Given the description of an element on the screen output the (x, y) to click on. 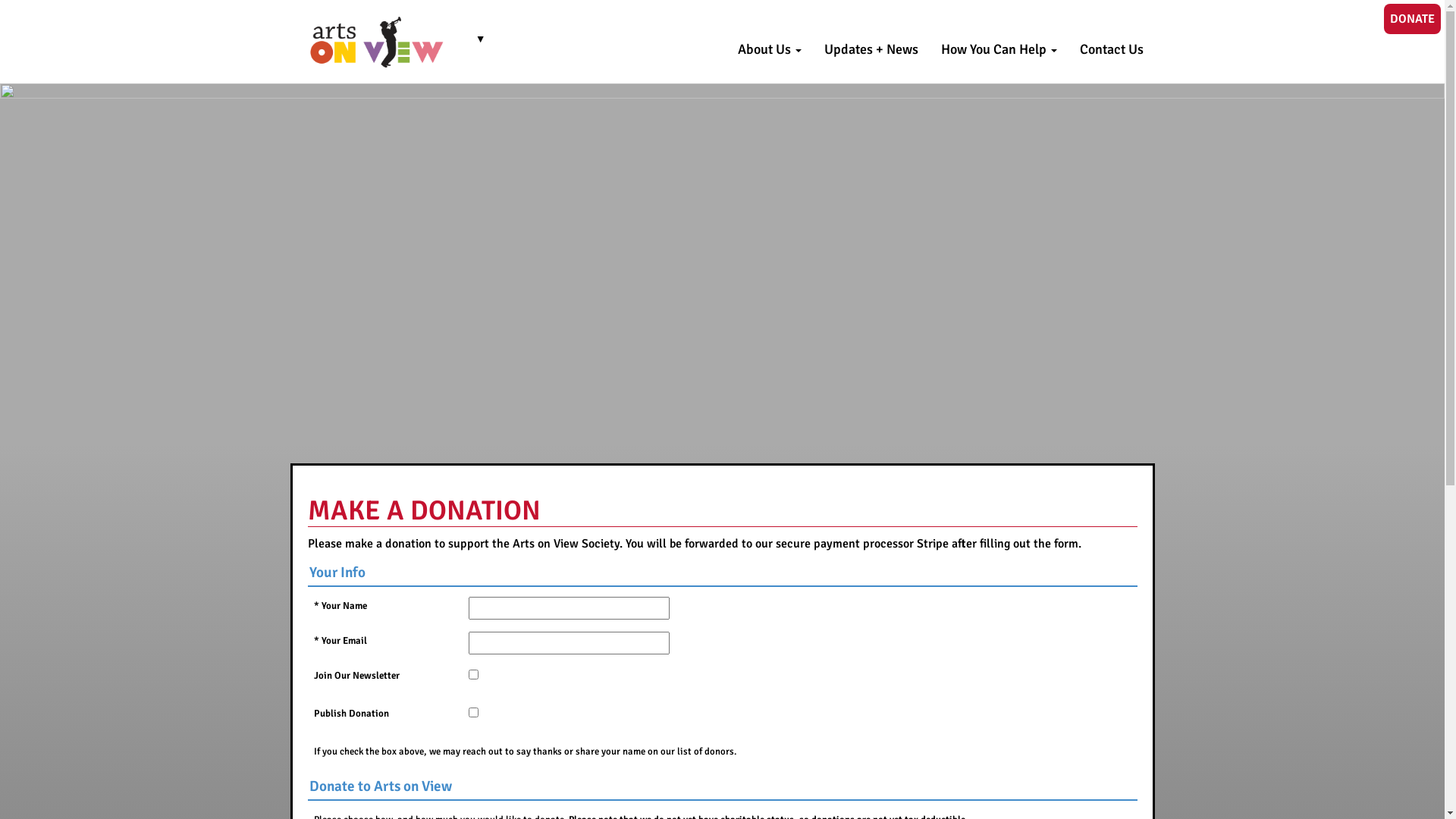
How You Can Help Element type: text (998, 49)
DONATE Element type: text (1411, 18)
Updates + News Element type: text (870, 49)
About Us Element type: text (769, 49)
Contact Us Element type: text (1110, 49)
